Given the description of an element on the screen output the (x, y) to click on. 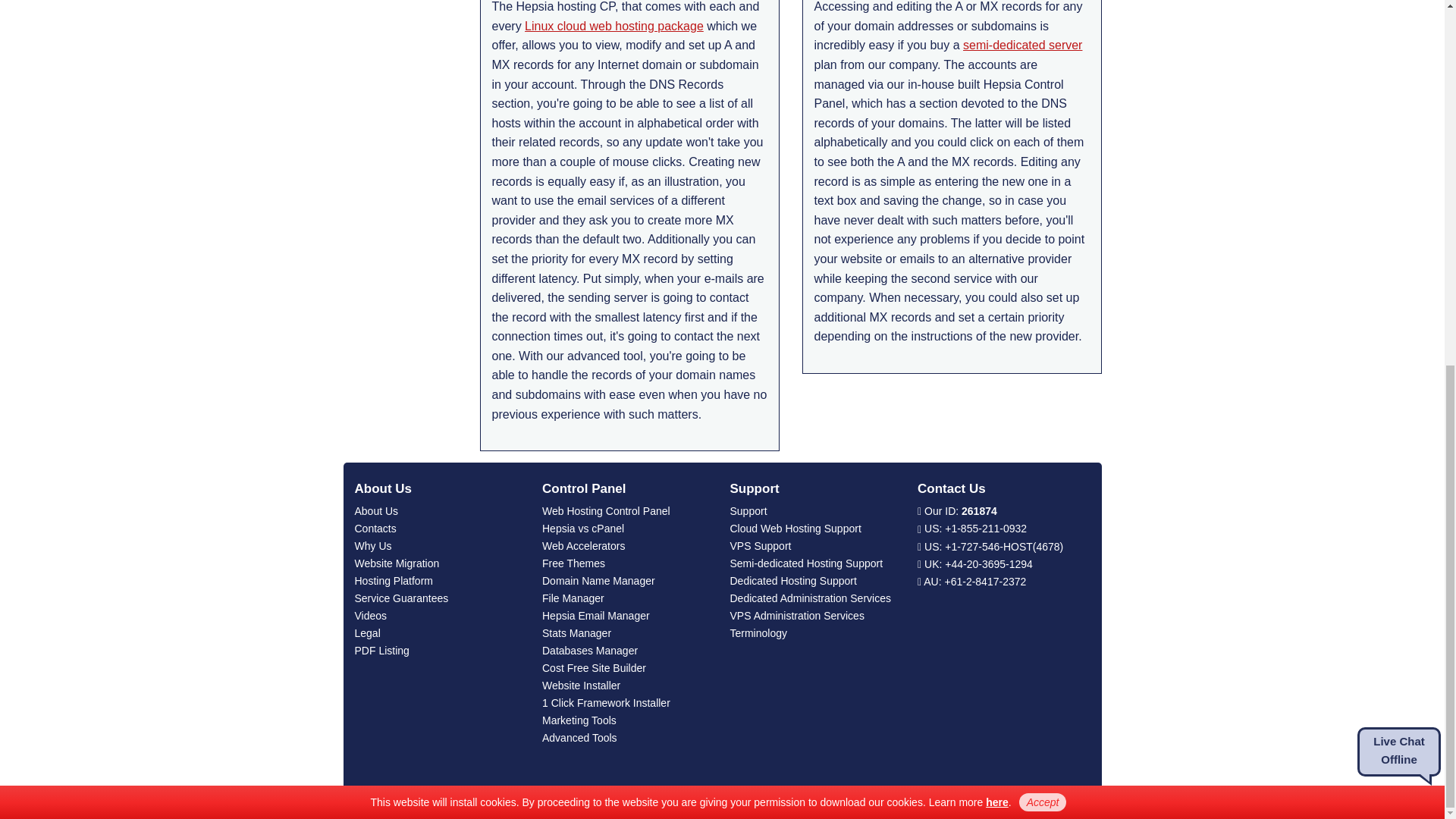
Live chat offline (1398, 94)
semi-dedicated hosting (1021, 44)
Linux cloud web hosting packages (613, 25)
Privacy Policy (997, 145)
